Given the description of an element on the screen output the (x, y) to click on. 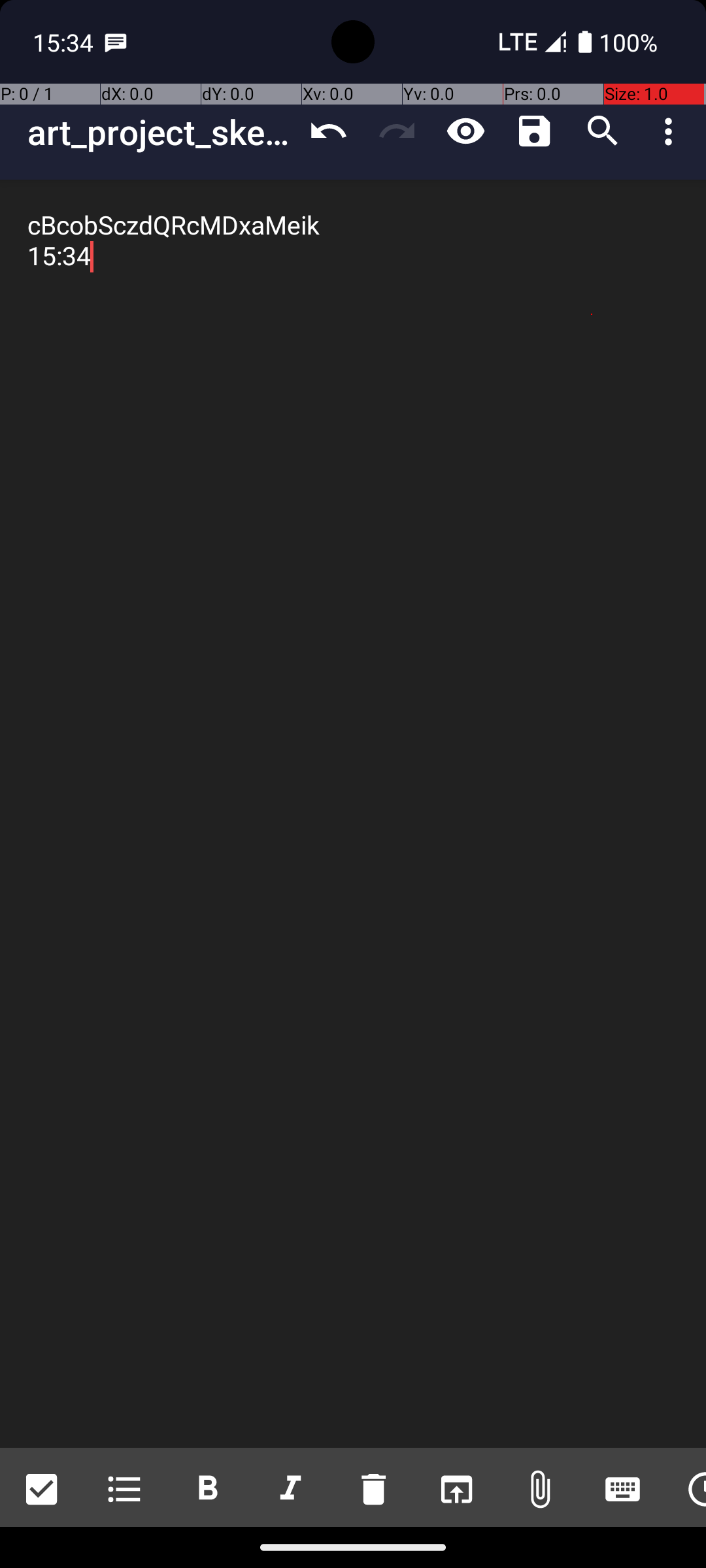
art_project_sketches_edited Element type: android.widget.TextView (160, 131)
cBcobSczdQRcMDxaMeik
15:34 Element type: android.widget.EditText (353, 813)
